Given the description of an element on the screen output the (x, y) to click on. 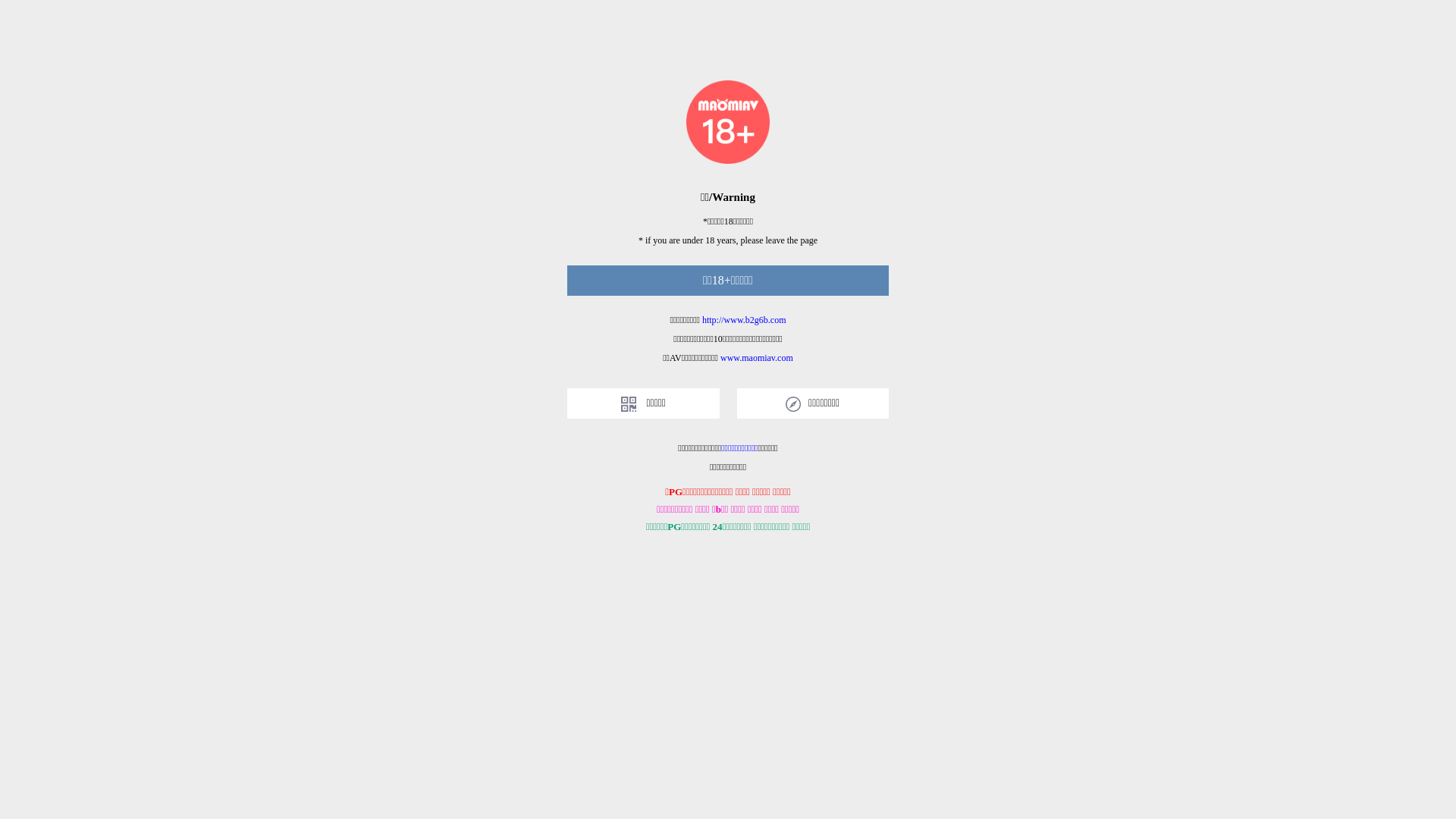
http://www.b2g6b.com Element type: text (744, 319)
www.maomiav.com Element type: text (756, 357)
